Given the description of an element on the screen output the (x, y) to click on. 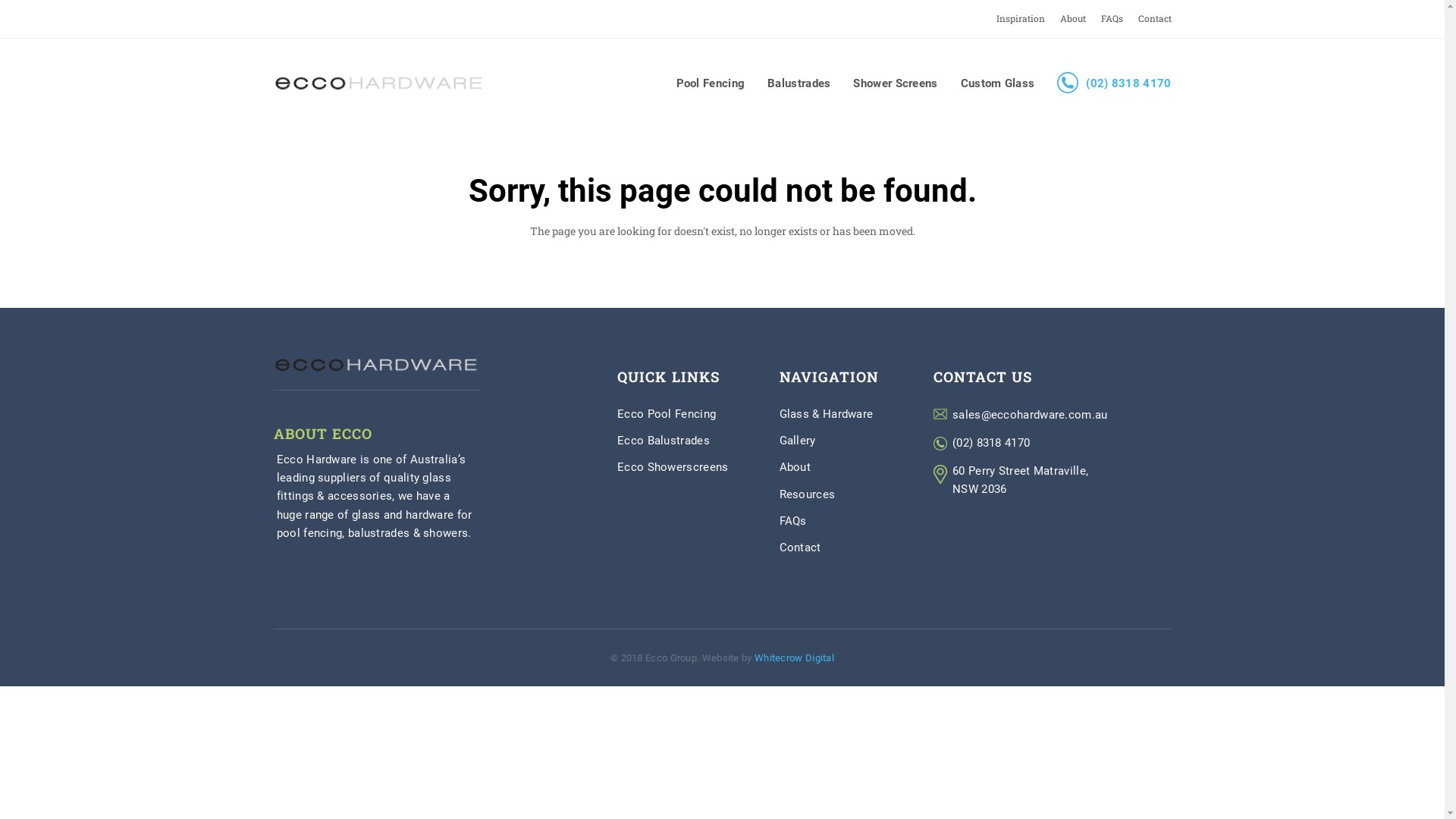
Shower Screens Element type: text (894, 83)
Inspiration Element type: text (1020, 18)
FAQs Element type: text (792, 521)
Custom Glass Element type: text (997, 83)
Balustrades Element type: text (798, 83)
(02) 8318 4170 Element type: text (990, 442)
Whitecrow Digital Element type: text (794, 657)
Ecco Showerscreens Element type: text (672, 467)
Ecco Pool Fencing Element type: text (666, 414)
Contact Element type: text (800, 547)
Ecco Balustrades Element type: text (663, 440)
About Element type: text (795, 467)
Contact Element type: text (1153, 18)
Gallery Element type: text (797, 440)
Resources Element type: text (807, 494)
(02) 8318 4170 Element type: text (1113, 83)
sales@eccohardware.com.au Element type: text (1029, 414)
Pool Fencing Element type: text (710, 83)
Glass & Hardware Element type: text (826, 414)
About Element type: text (1072, 18)
FAQs Element type: text (1112, 18)
